Given the description of an element on the screen output the (x, y) to click on. 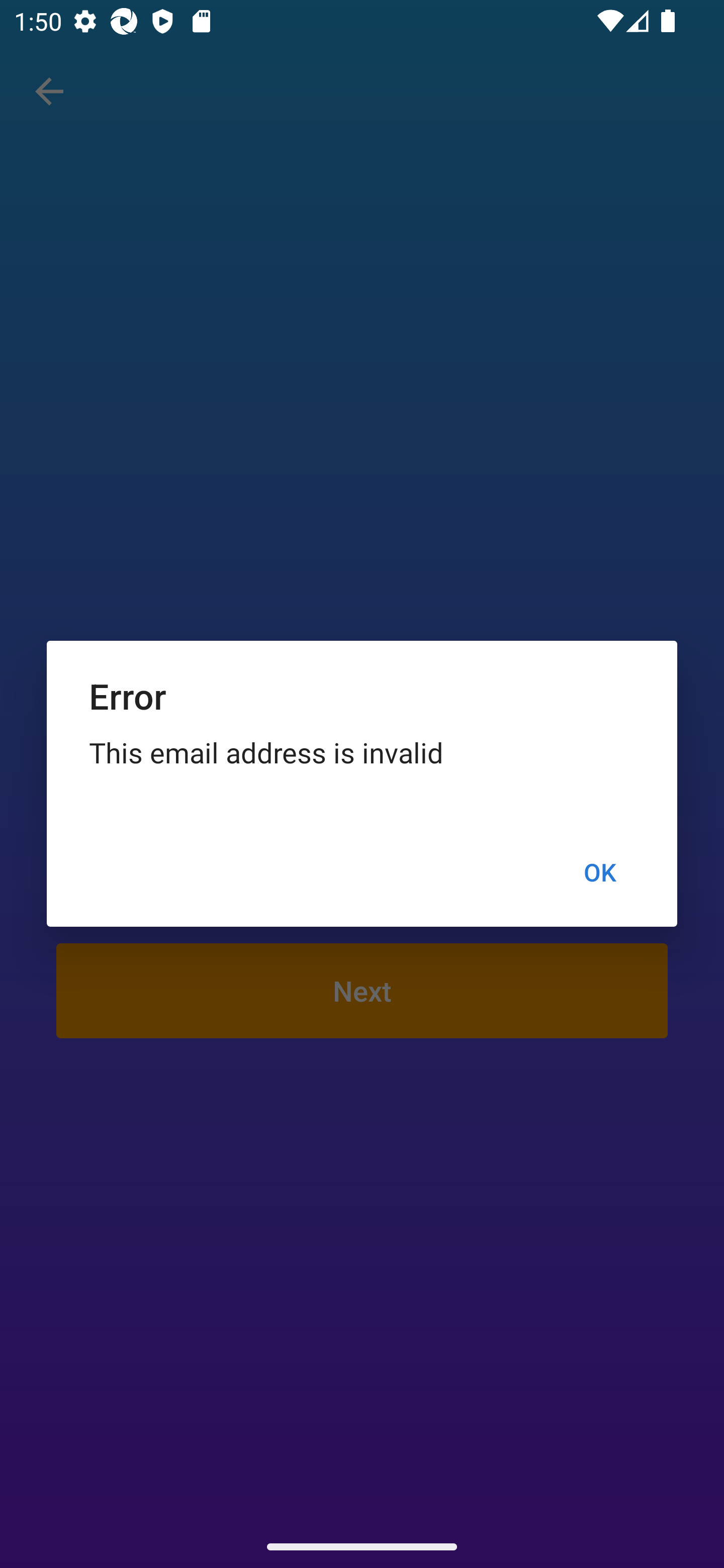
OK (599, 872)
